Given the description of an element on the screen output the (x, y) to click on. 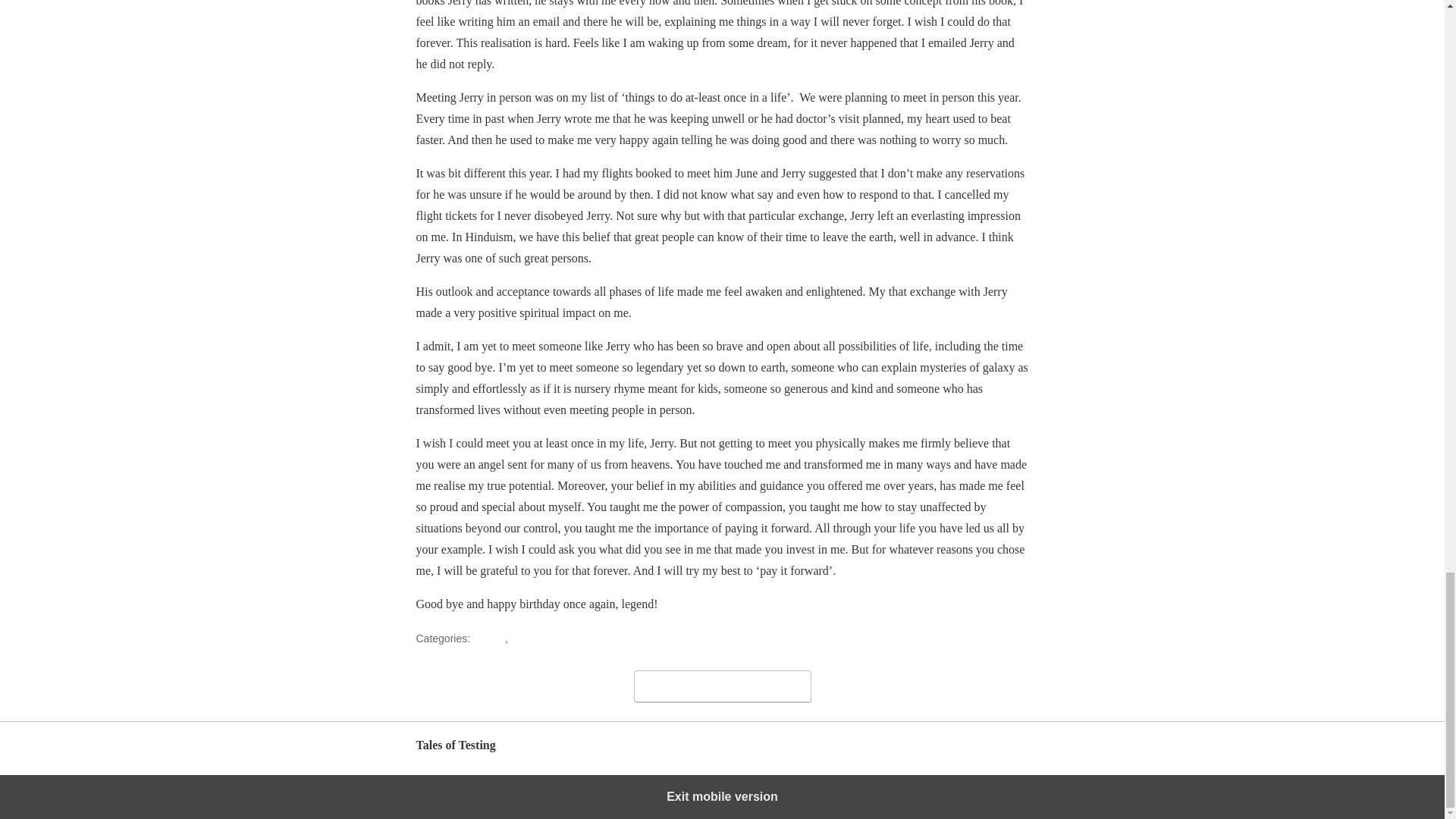
Career (489, 638)
Inspirational (540, 638)
Back to top (1002, 752)
Leave a Comment (721, 686)
